Given the description of an element on the screen output the (x, y) to click on. 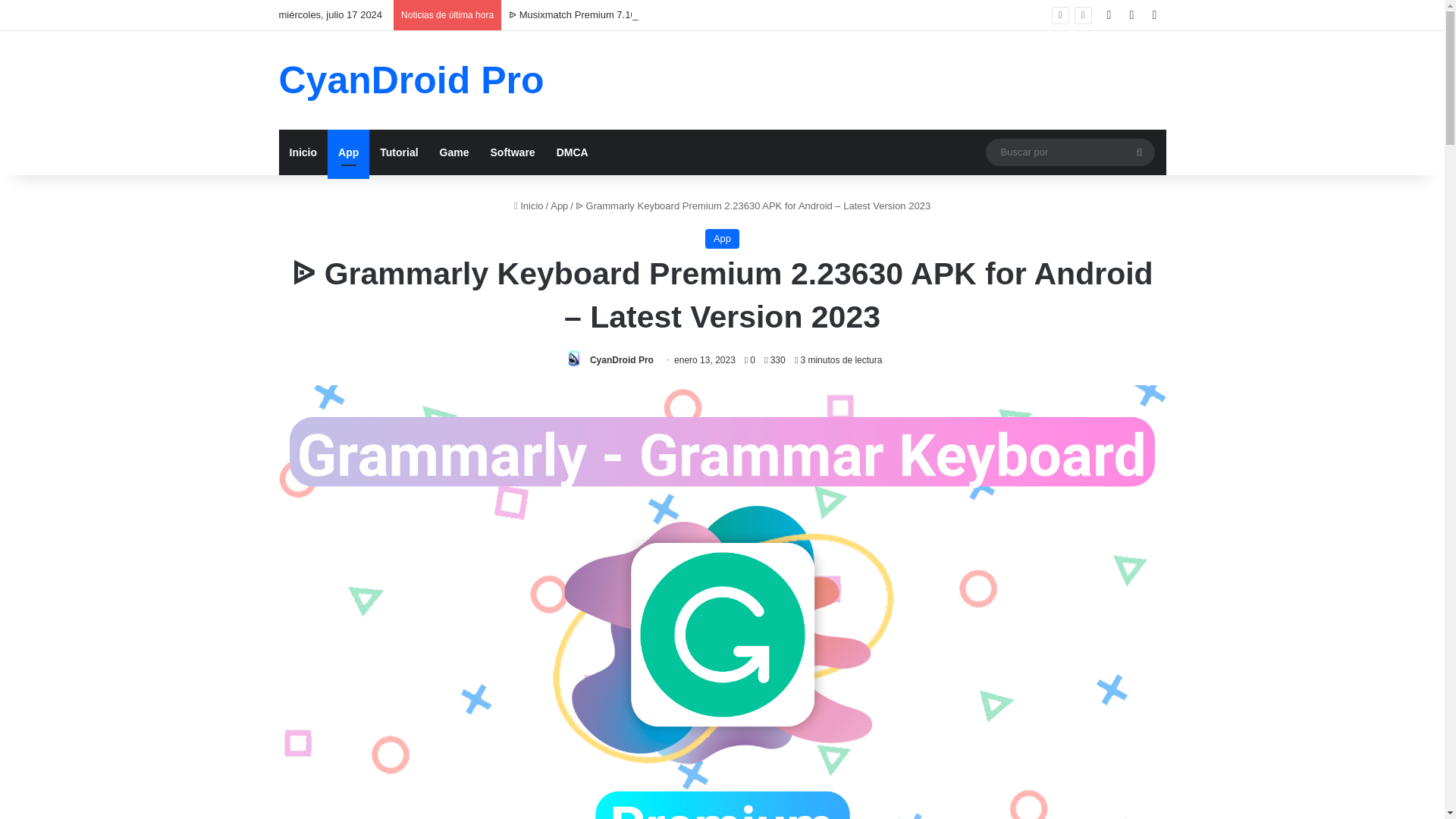
Tutorial (398, 152)
Acceso (1109, 15)
Buscar por (1069, 151)
CyanDroid Pro (411, 80)
Inicio (528, 205)
Software (511, 152)
App (348, 152)
Game (454, 152)
Buscar por (1139, 152)
CyanDroid Pro (621, 359)
App (721, 238)
Barra lateral (1154, 15)
CyanDroid Pro (621, 359)
Inicio (304, 152)
DMCA (572, 152)
